Given the description of an element on the screen output the (x, y) to click on. 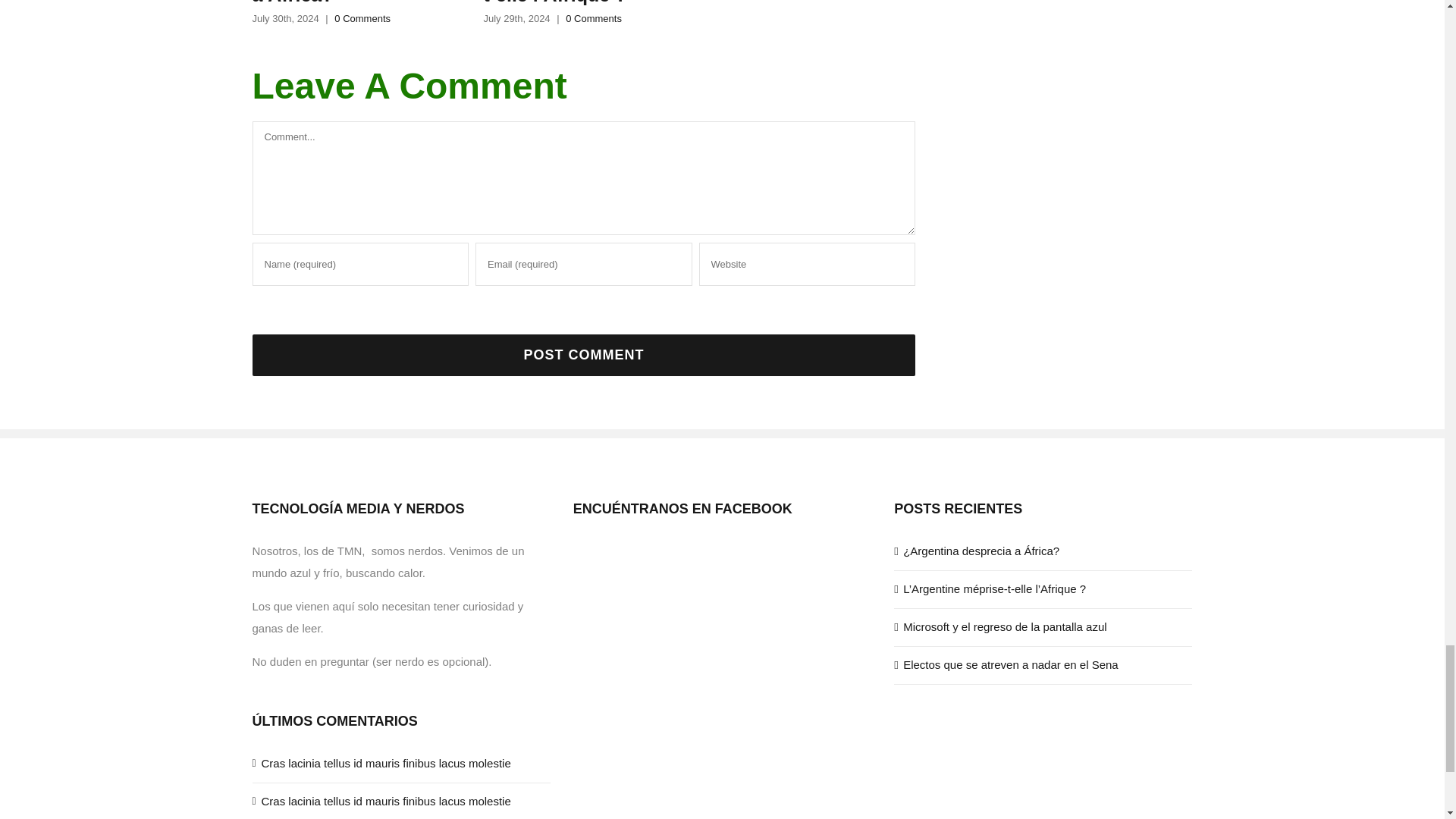
Post Comment (583, 354)
